Given the description of an element on the screen output the (x, y) to click on. 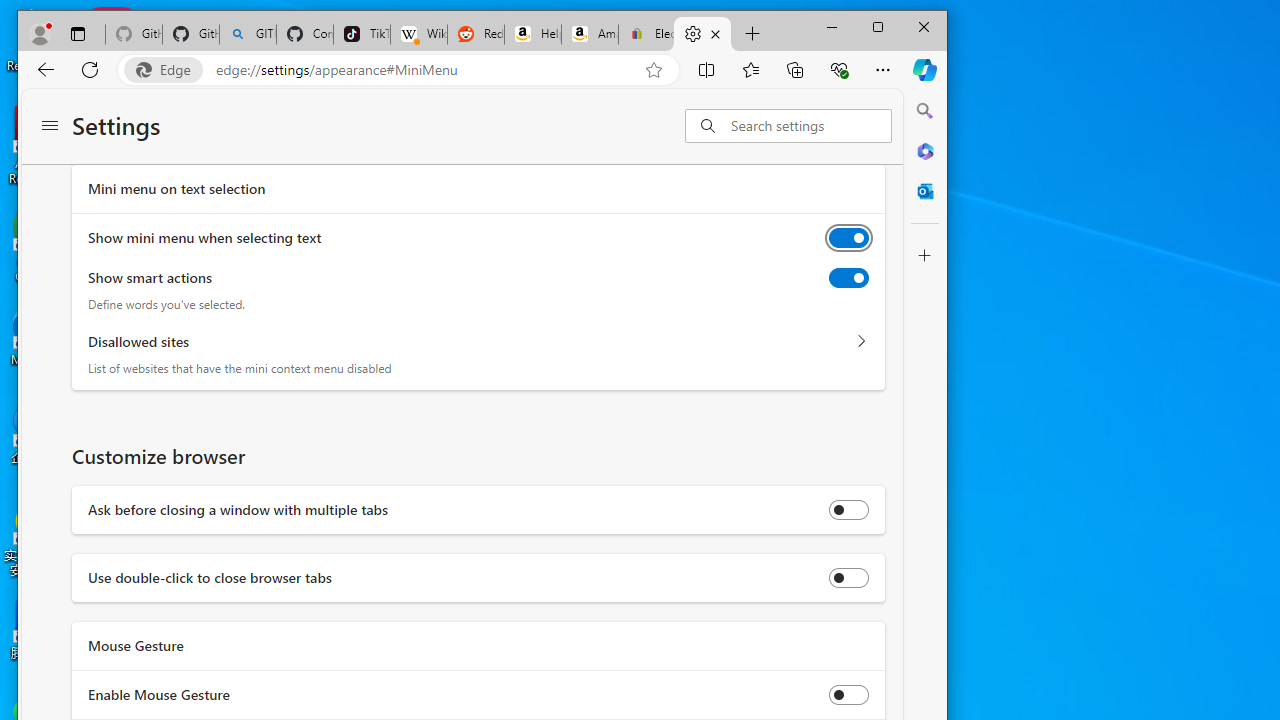
Edge (168, 69)
Wikipedia, the free encyclopedia (418, 34)
GITHUB - Search (248, 34)
Enable Mouse Gesture (849, 694)
Ask before closing a window with multiple tabs (849, 509)
Search settings (809, 125)
